Given the description of an element on the screen output the (x, y) to click on. 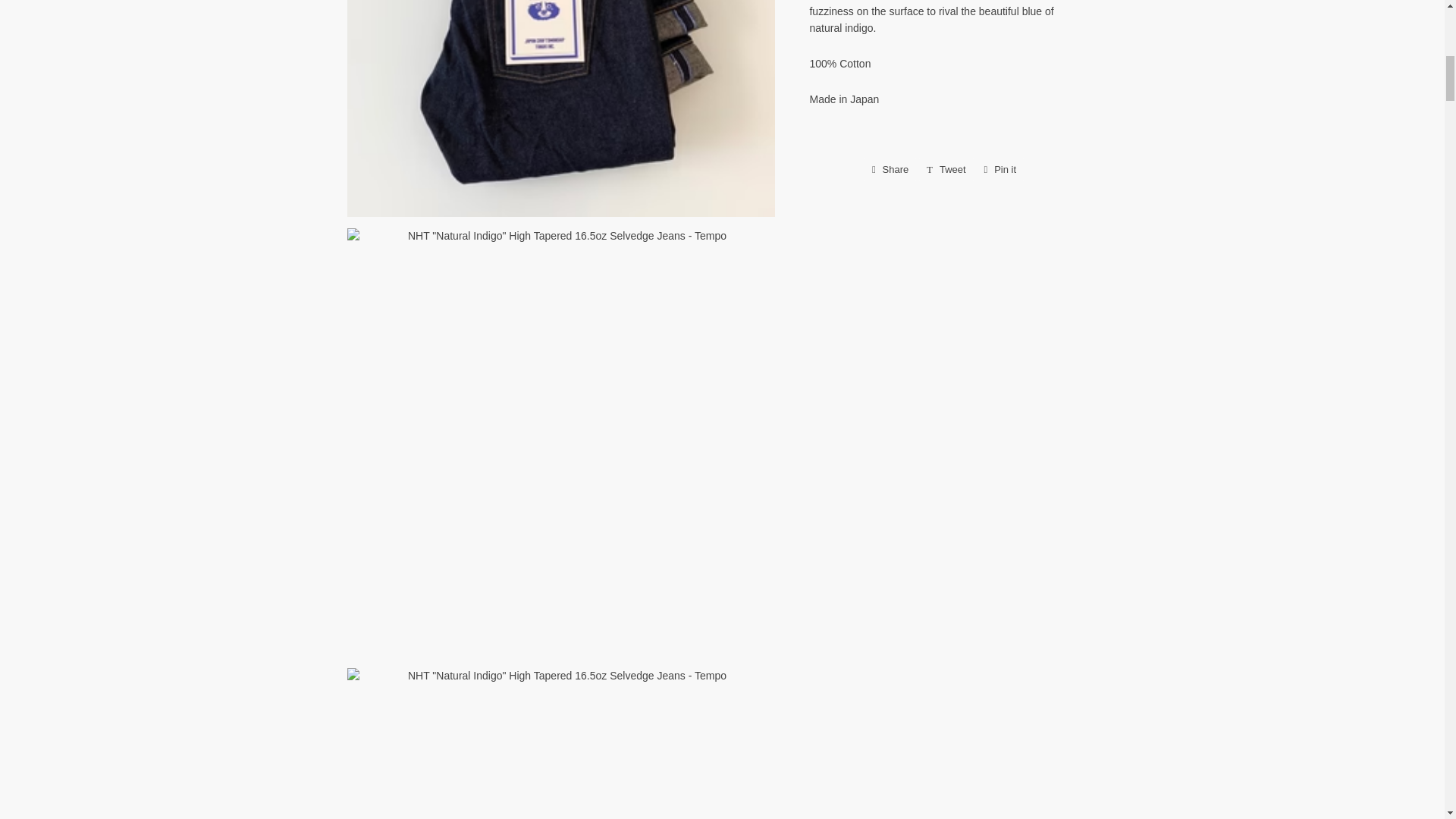
Tweet on Twitter (946, 169)
Pin on Pinterest (1000, 169)
Share on Facebook (889, 169)
